Given the description of an element on the screen output the (x, y) to click on. 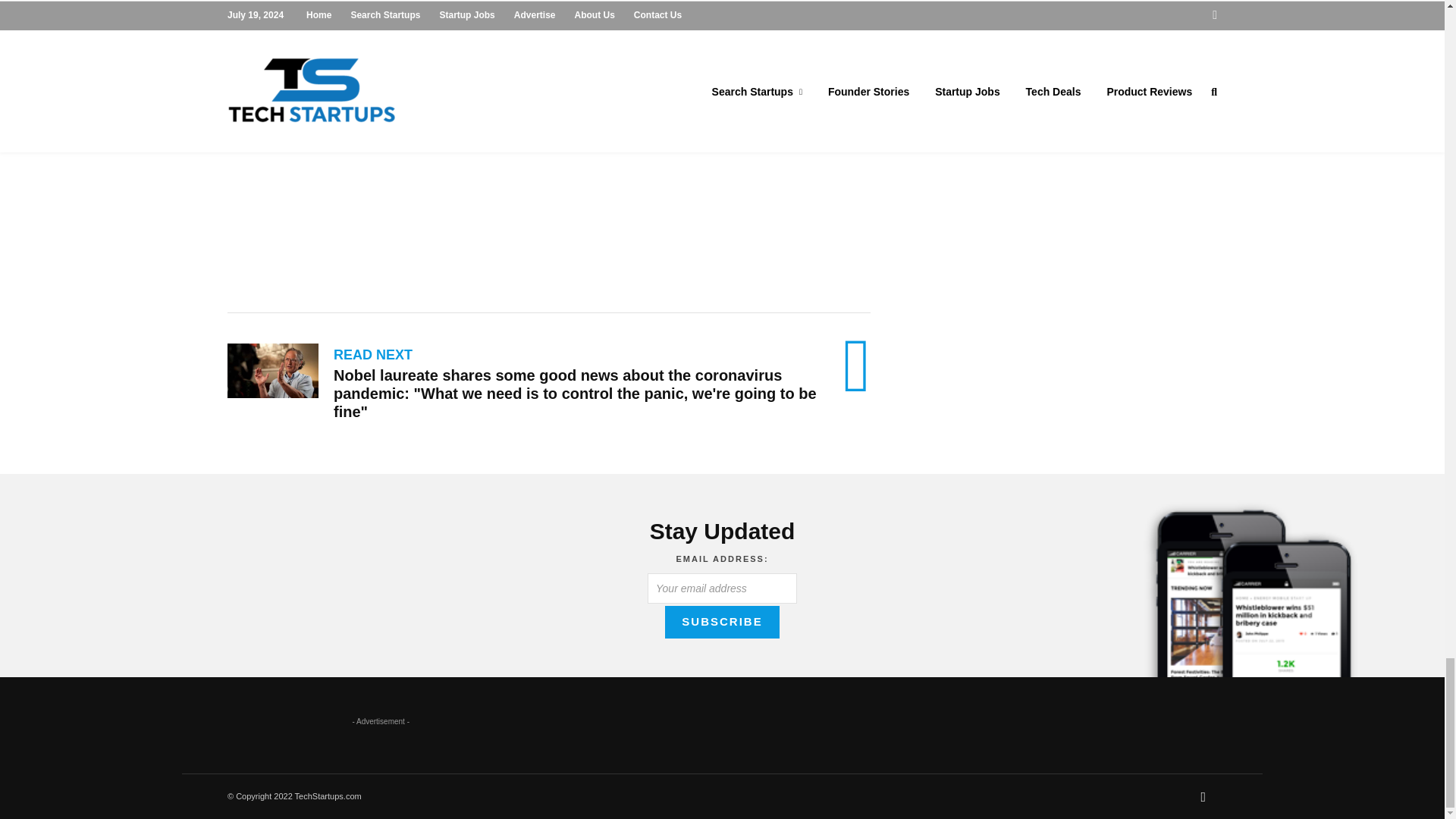
Subscribe (721, 622)
